Given the description of an element on the screen output the (x, y) to click on. 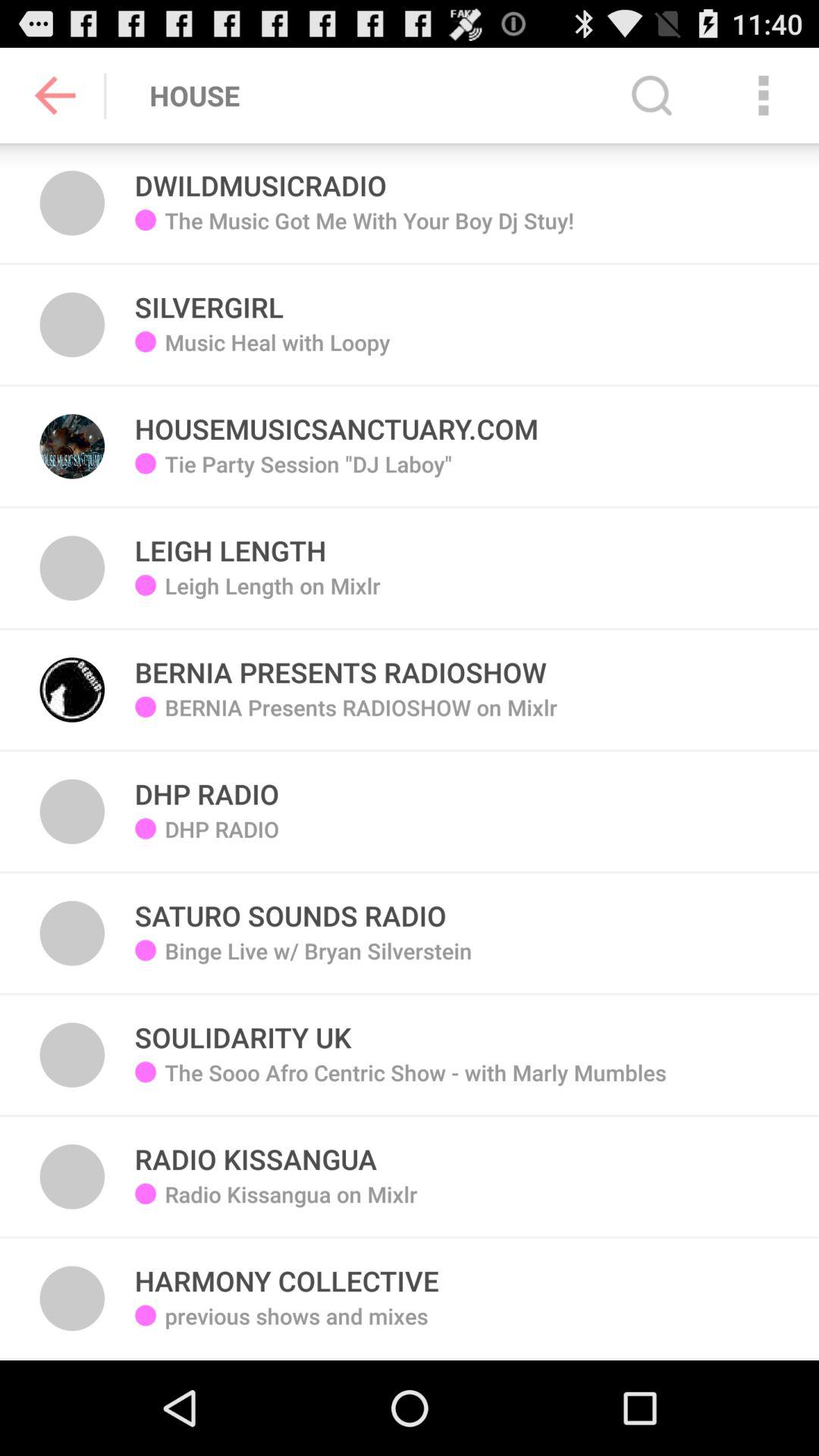
turn on app below dhp radio app (318, 962)
